Given the description of an element on the screen output the (x, y) to click on. 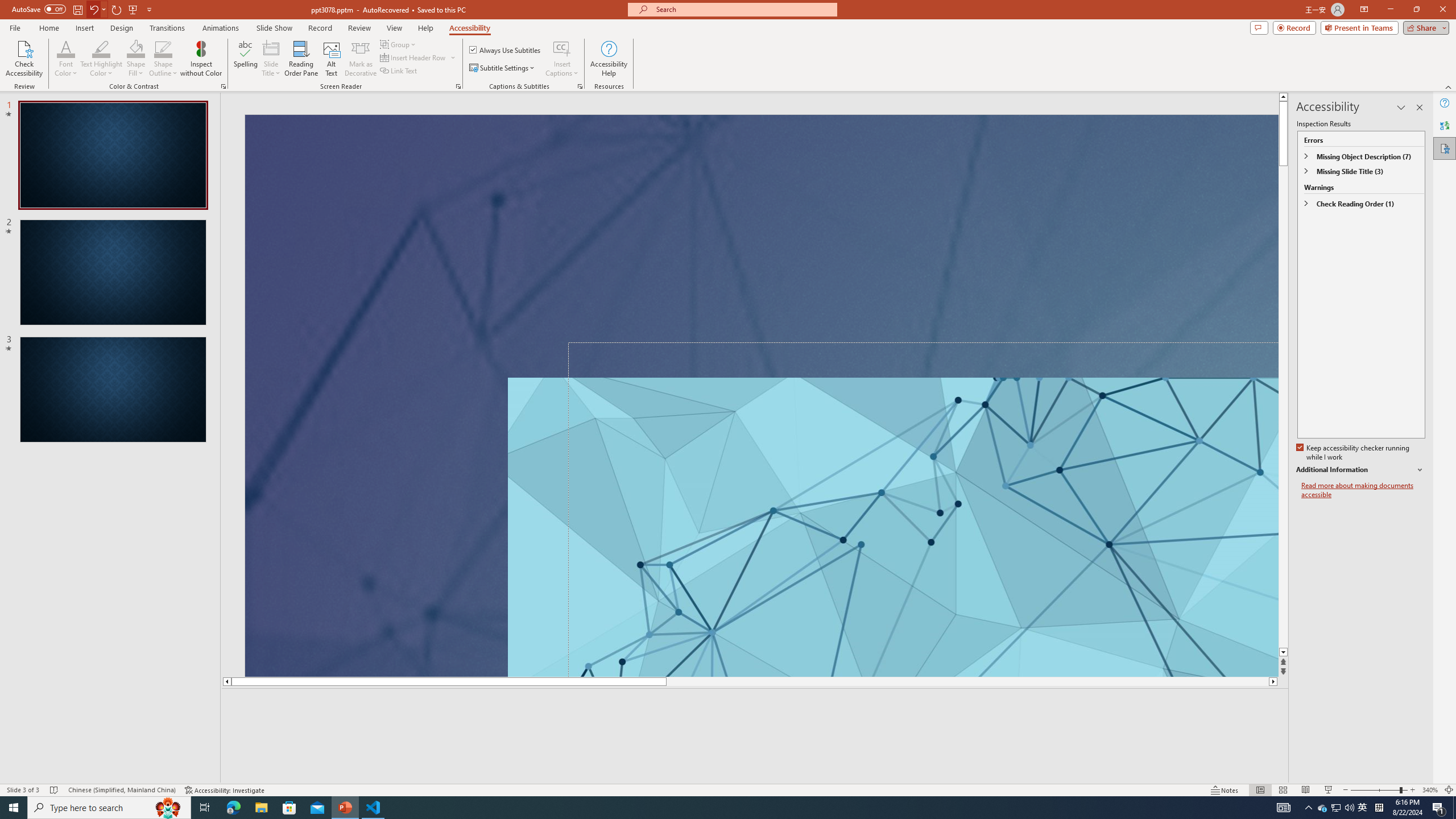
Captions & Subtitles (580, 85)
